Given the description of an element on the screen output the (x, y) to click on. 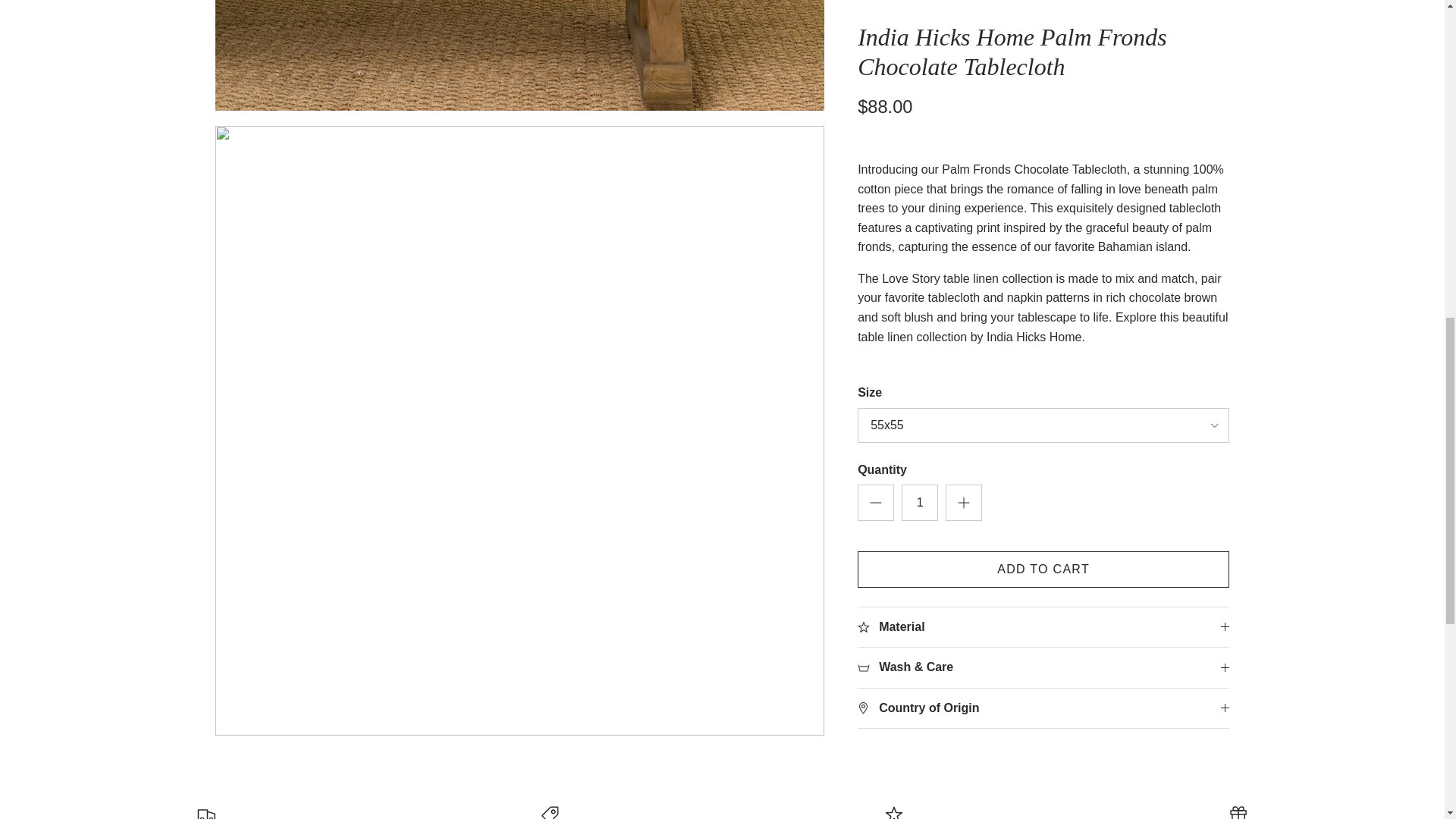
1 (919, 4)
